Given the description of an element on the screen output the (x, y) to click on. 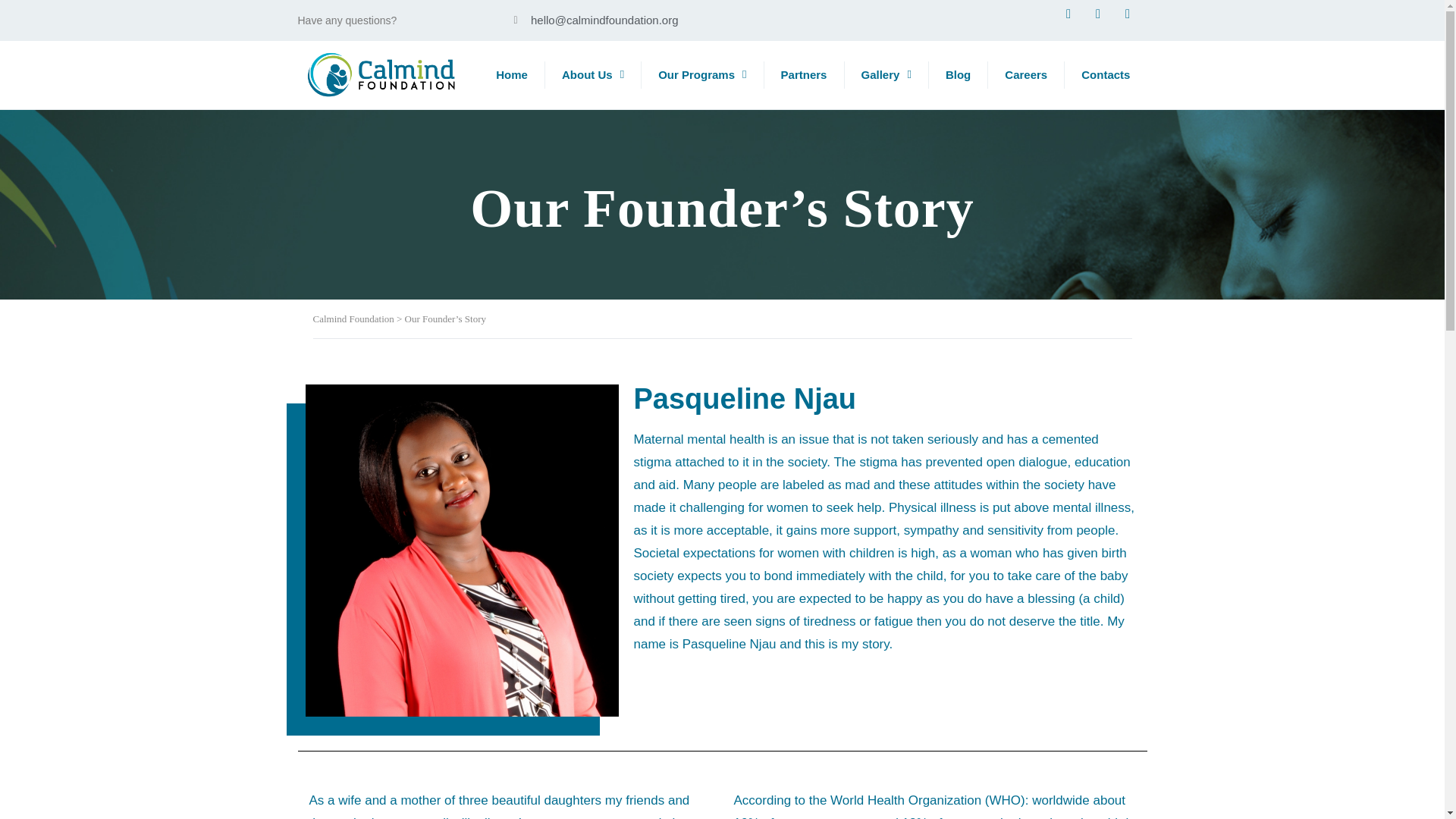
Partners (804, 75)
About Us (592, 75)
Our Programs (702, 75)
Home (511, 75)
Gallery (886, 75)
Blog (957, 75)
Calmind Foundation (353, 318)
Go to Calmind Foundation. (353, 318)
Careers (1026, 75)
Contacts (1105, 75)
